Given the description of an element on the screen output the (x, y) to click on. 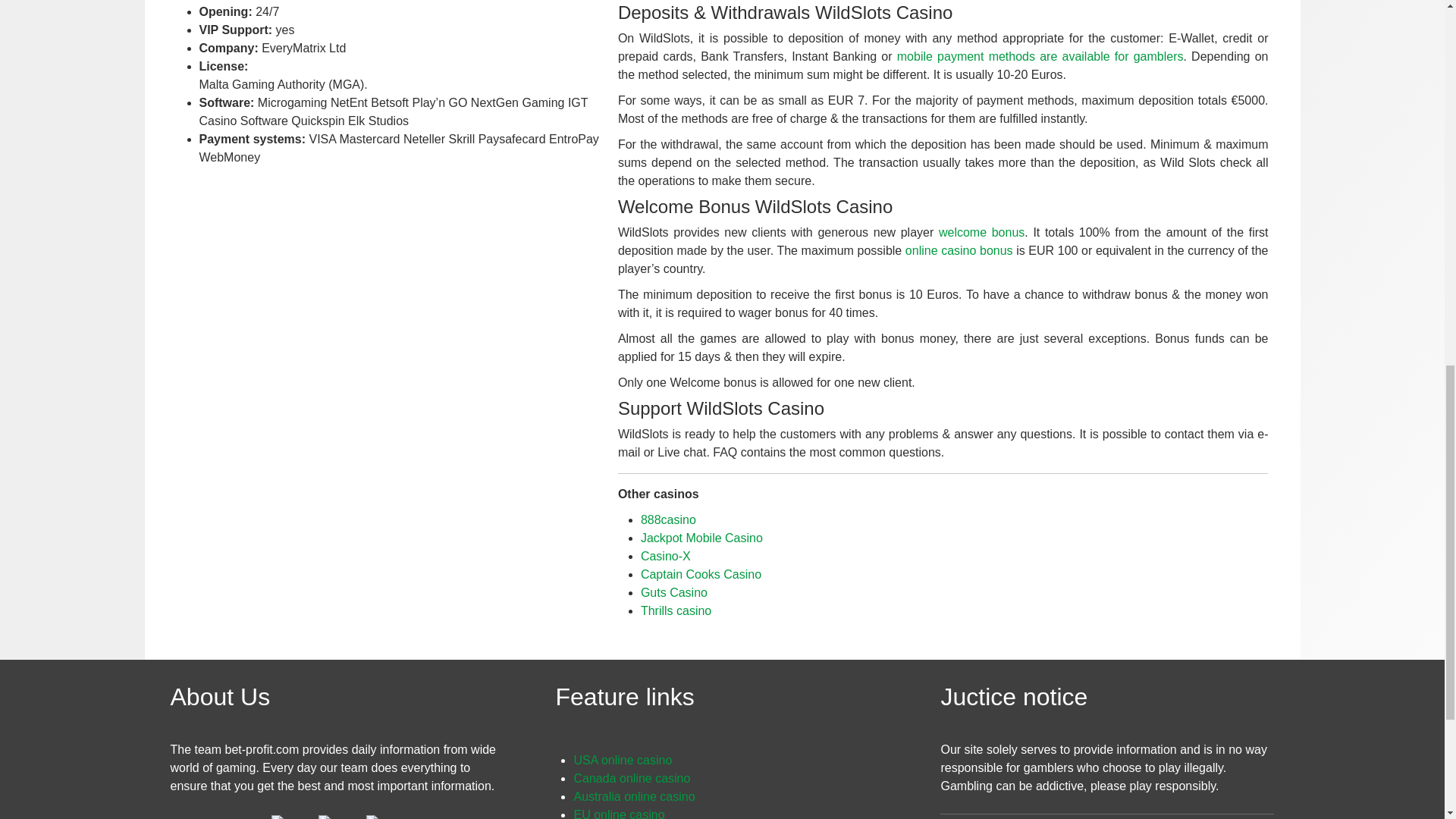
Jackpot Mobile Casino (701, 536)
Casino-X (665, 554)
mobile payment methods are available for gamblers (1039, 56)
welcome bonus (982, 232)
888casino (667, 518)
